Given the description of an element on the screen output the (x, y) to click on. 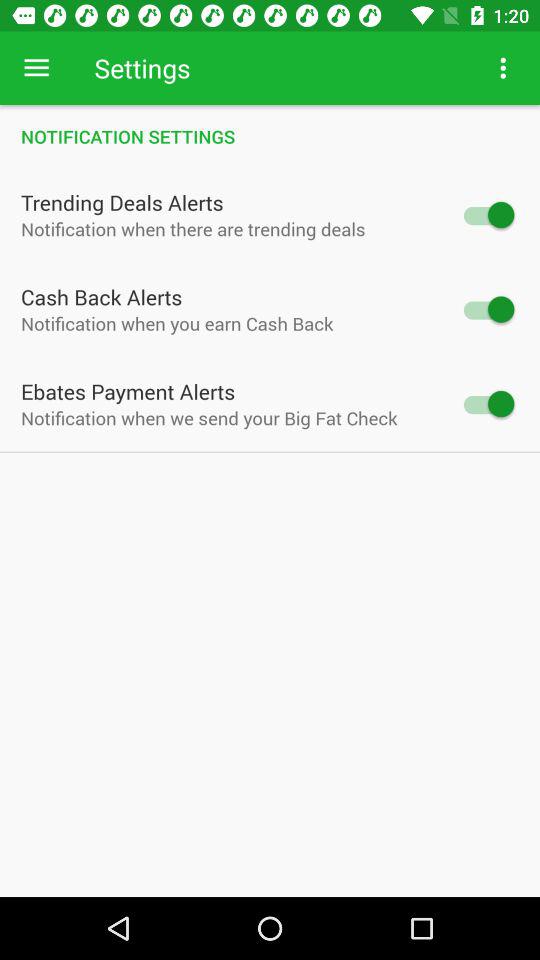
press the app next to settings app (503, 68)
